Given the description of an element on the screen output the (x, y) to click on. 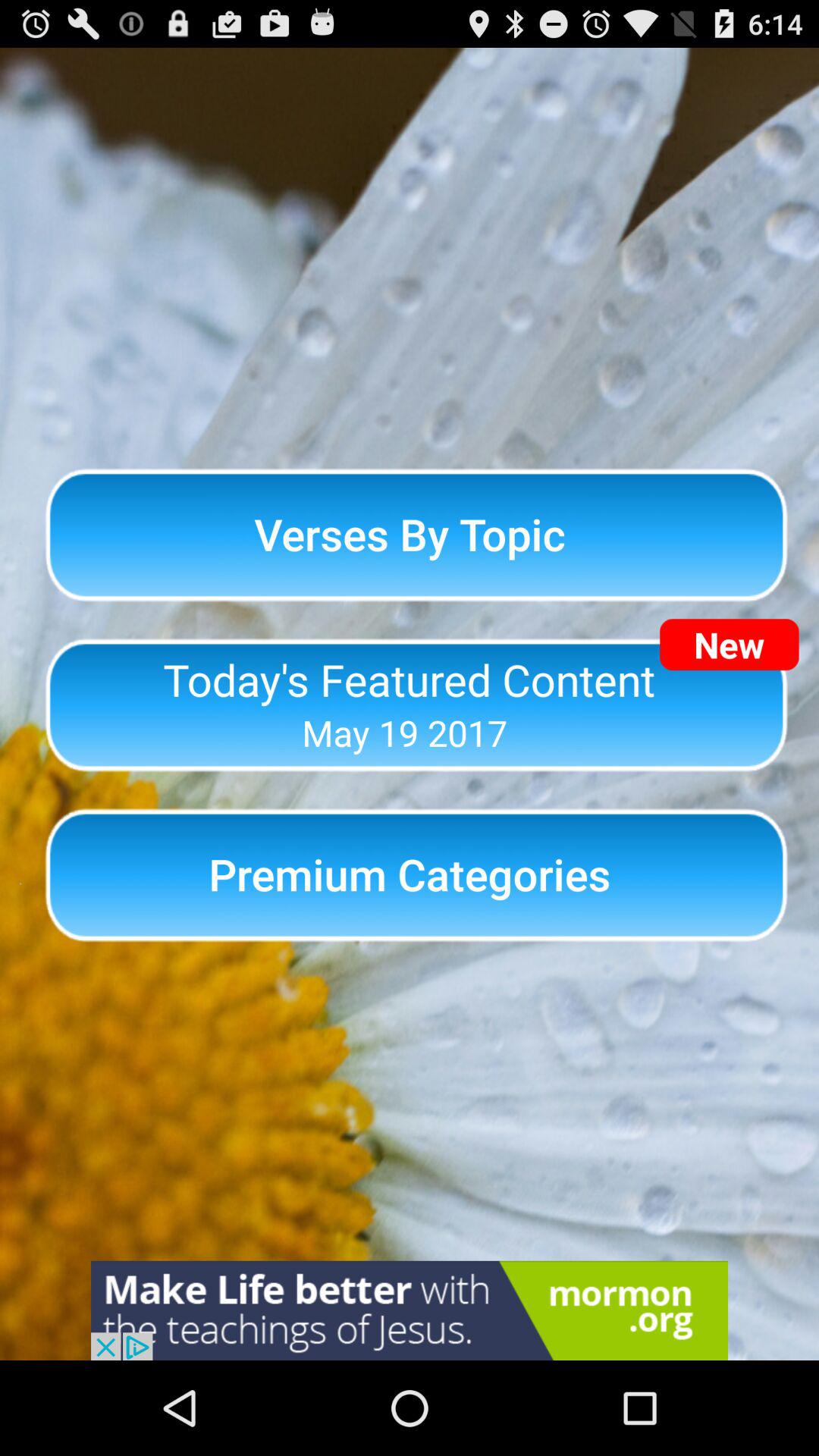
advertisement (409, 1310)
